Given the description of an element on the screen output the (x, y) to click on. 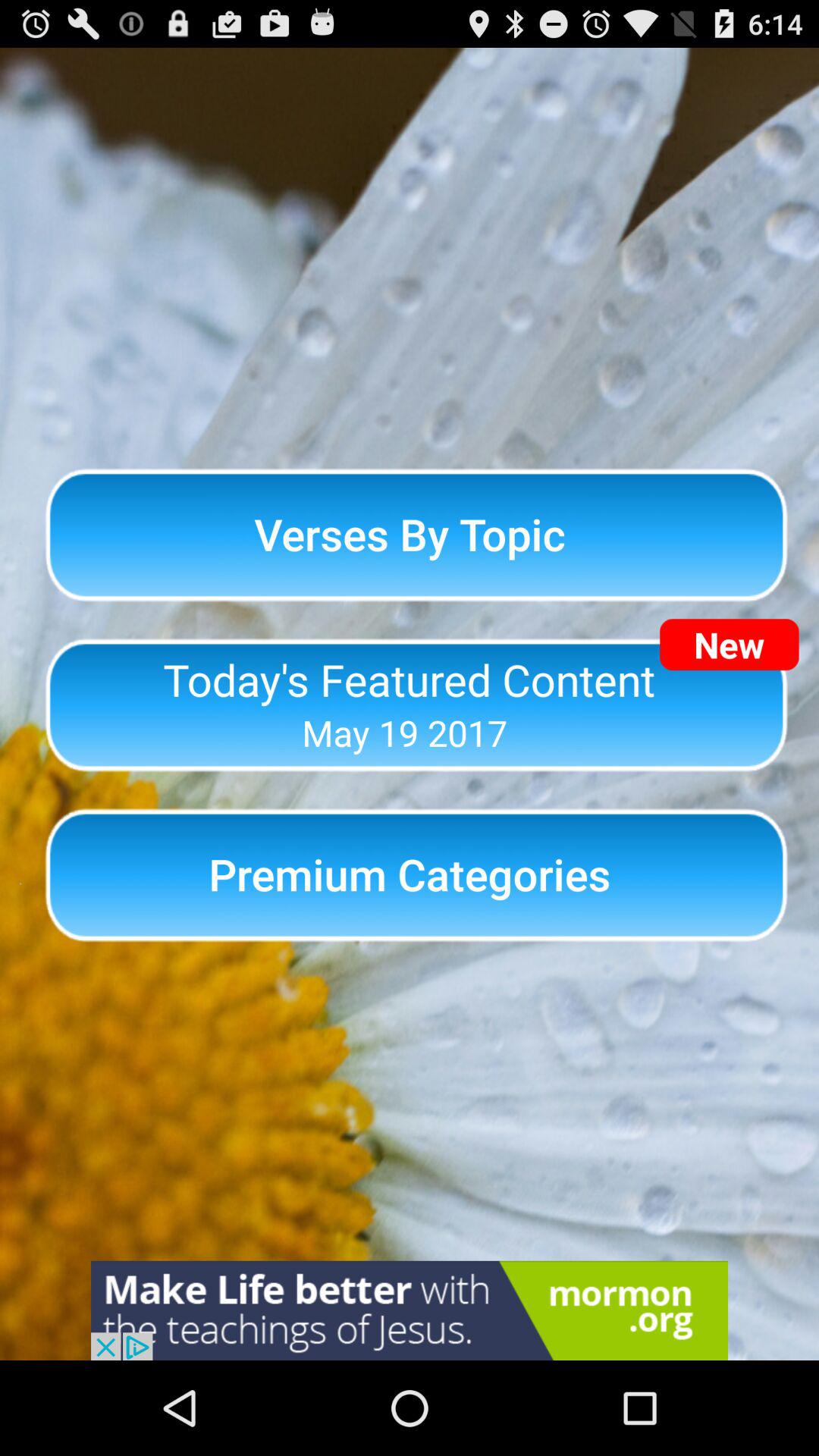
advertisement (409, 1310)
